Given the description of an element on the screen output the (x, y) to click on. 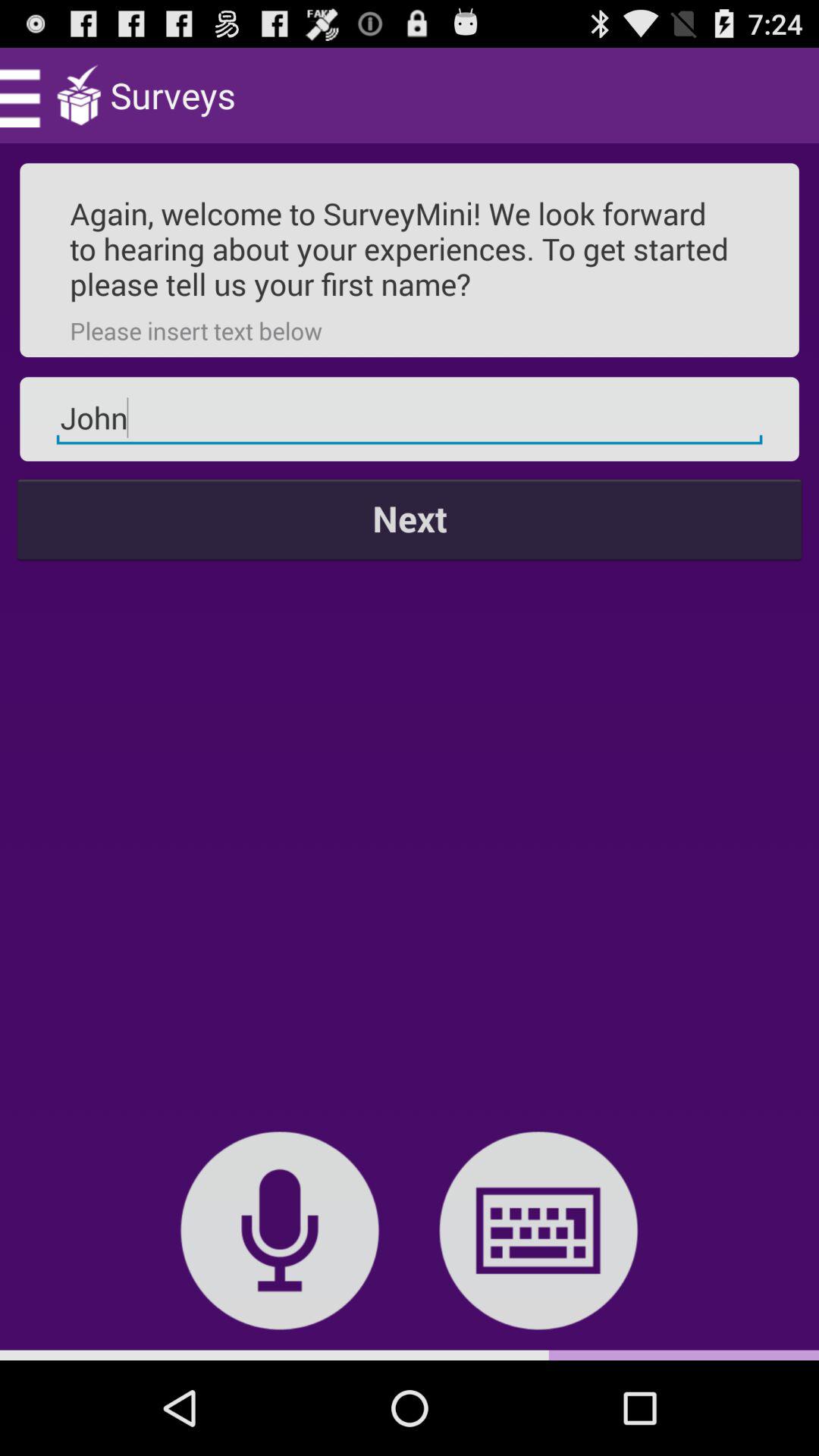
tap the item below the please insert text (409, 419)
